Given the description of an element on the screen output the (x, y) to click on. 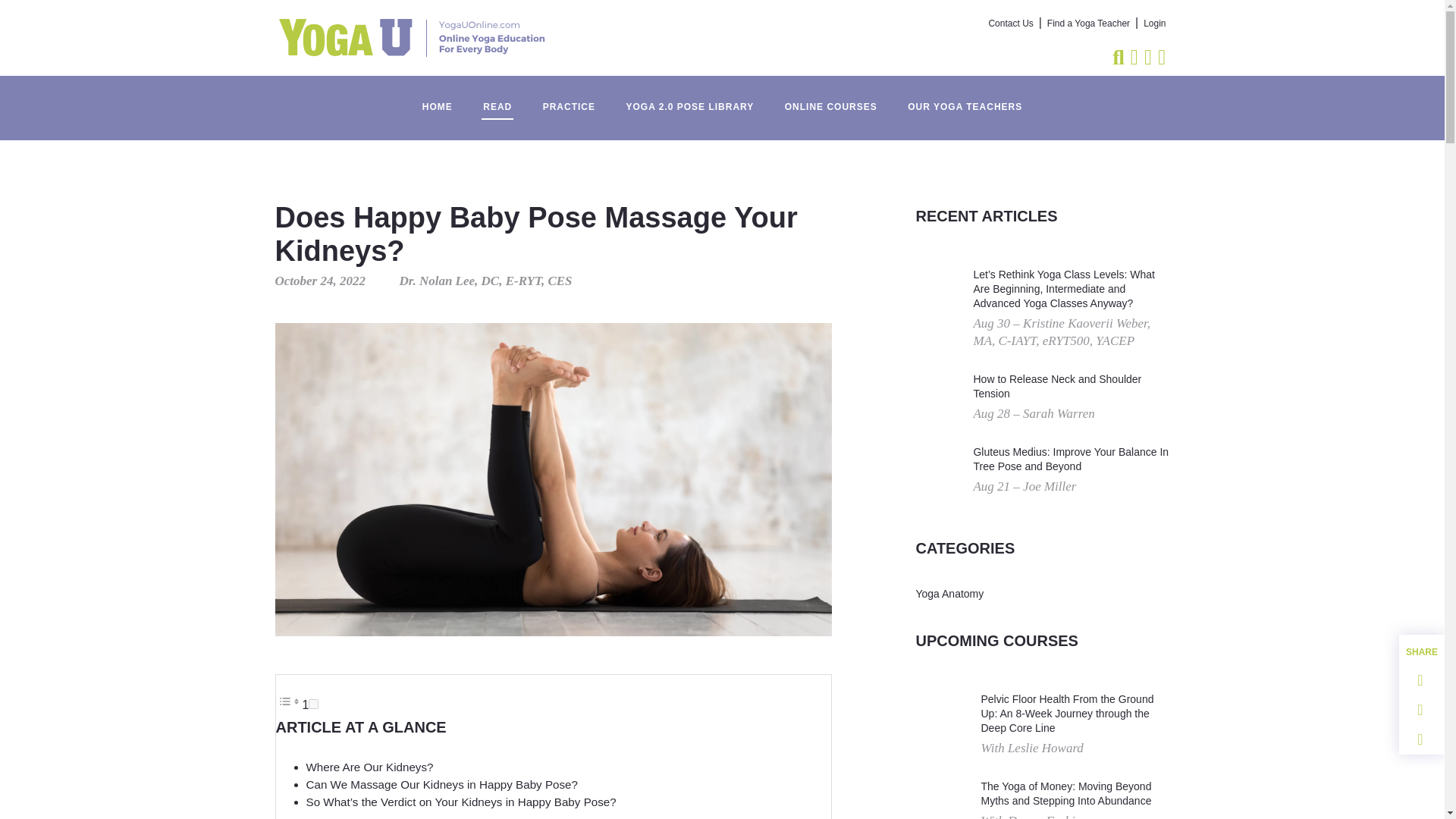
YOGA 2.0 POSE LIBRARY (689, 99)
Where Are Our Kidneys? (369, 766)
on (313, 704)
ONLINE COURSES (831, 99)
HOME (437, 99)
PRACTICE (568, 99)
Can We Massage Our Kidneys in Happy Baby Pose? (441, 784)
OUR YOGA TEACHERS (964, 99)
READ (496, 99)
Can We Massage Our Kidneys in Happy Baby Pose? (441, 784)
